Given the description of an element on the screen output the (x, y) to click on. 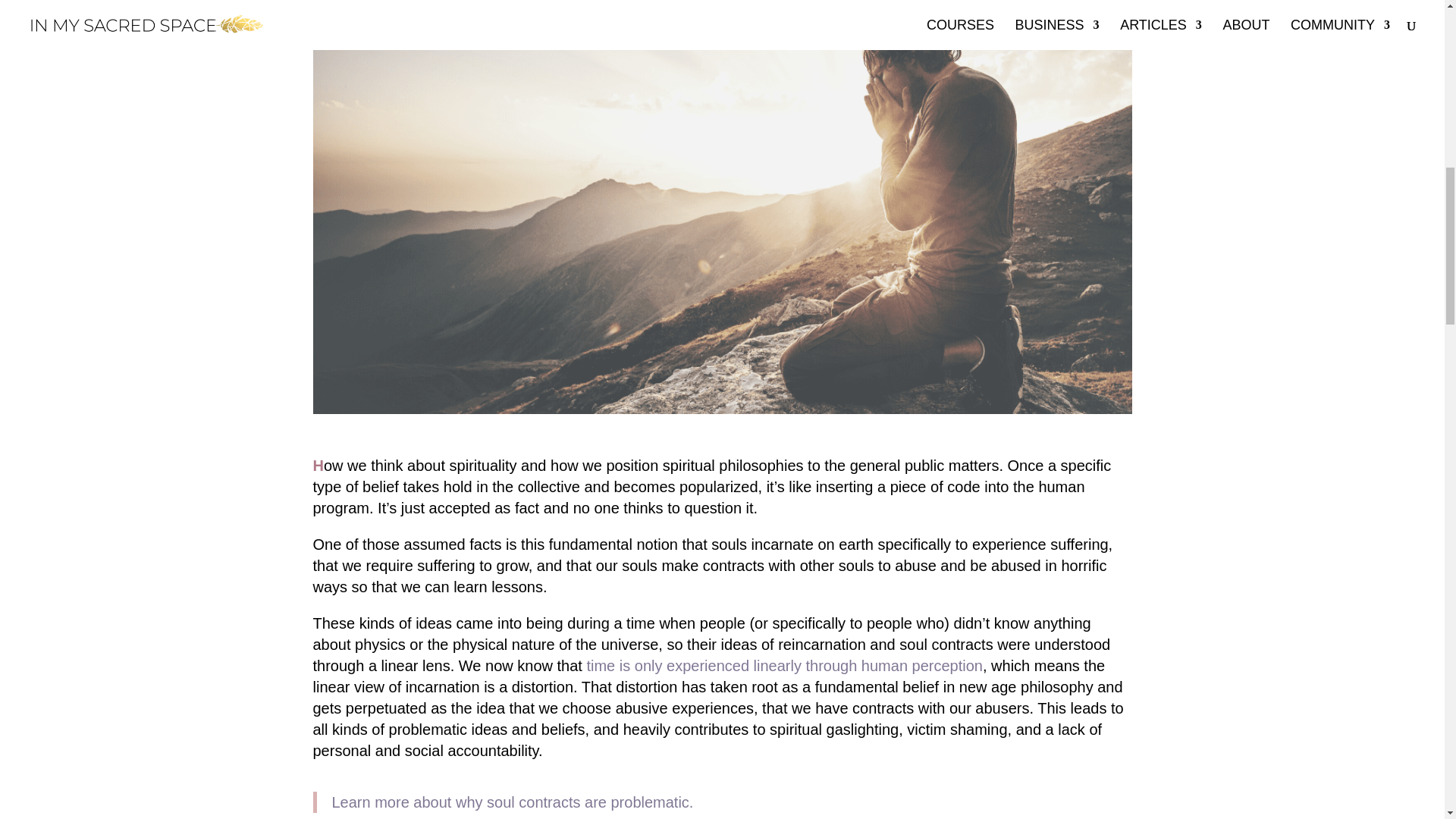
time is only experienced linearly through human perception (784, 665)
Learn more about why soul contracts are problematic. (512, 801)
